Given the description of an element on the screen output the (x, y) to click on. 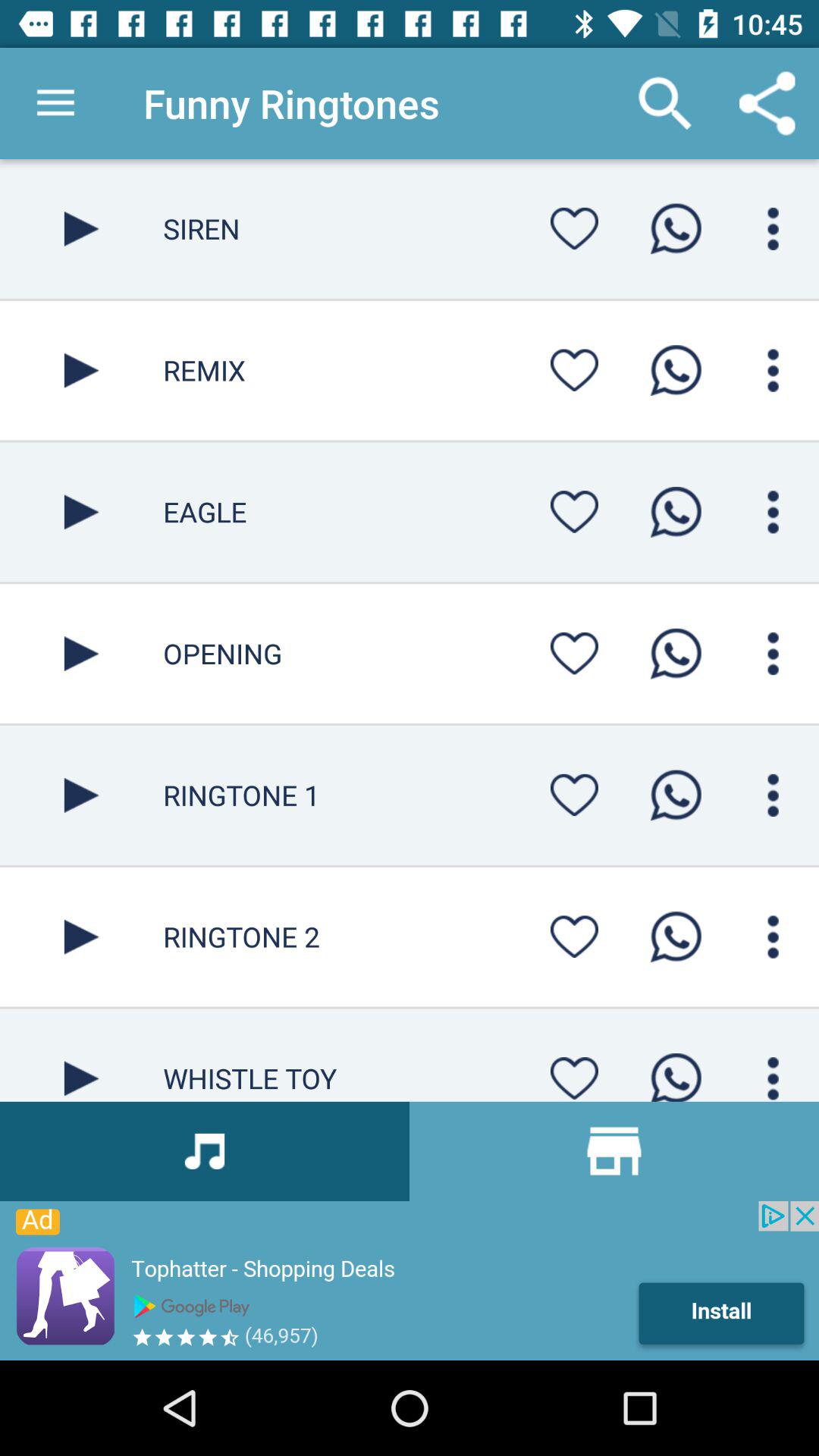
like button (574, 369)
